Given the description of an element on the screen output the (x, y) to click on. 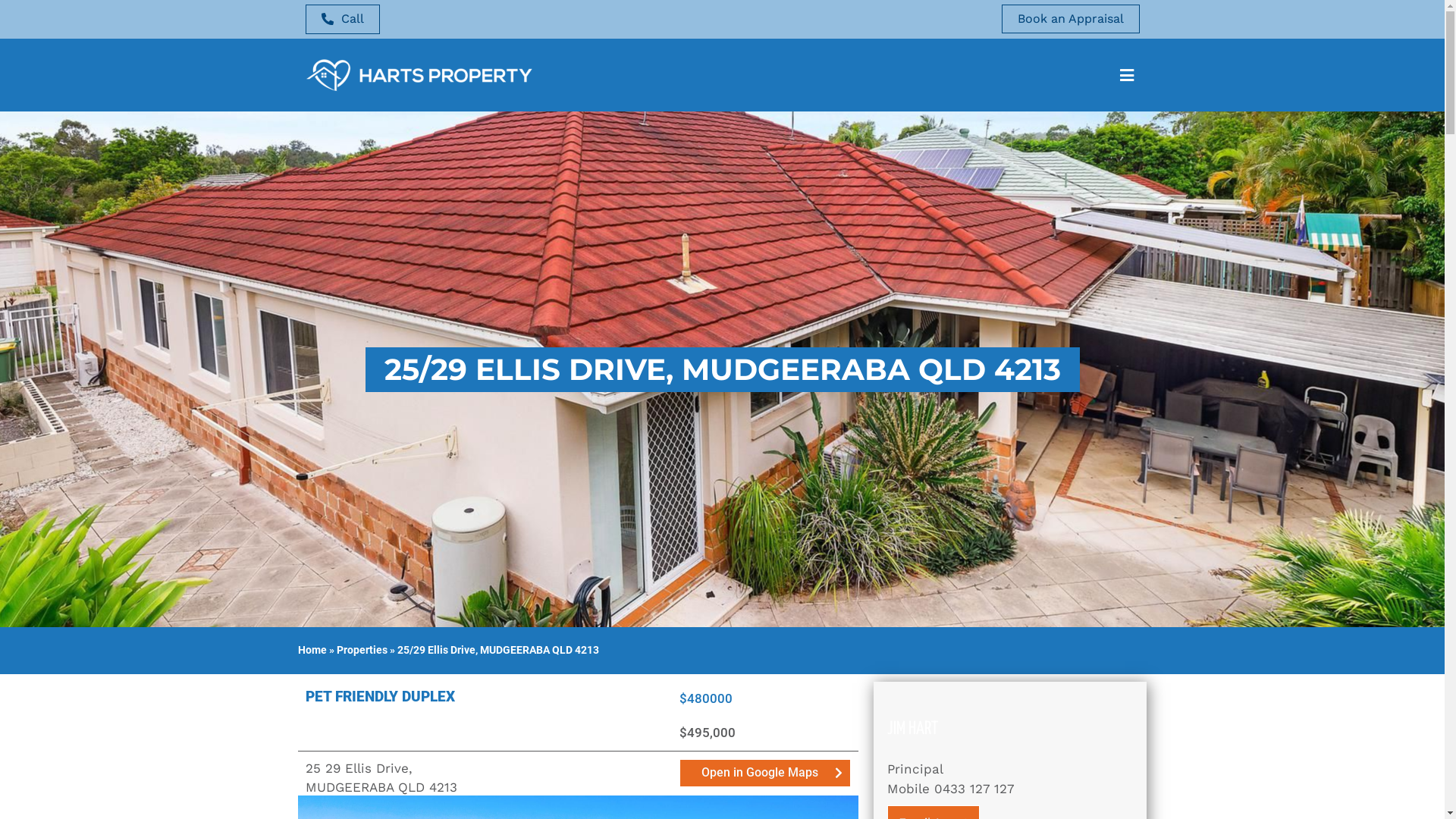
Home Element type: text (311, 649)
Open in Google Maps Element type: text (765, 773)
Call Element type: text (341, 19)
Book an Appraisal Element type: text (1070, 18)
JIM HART Element type: text (912, 728)
Properties Element type: text (361, 649)
